Given the description of an element on the screen output the (x, y) to click on. 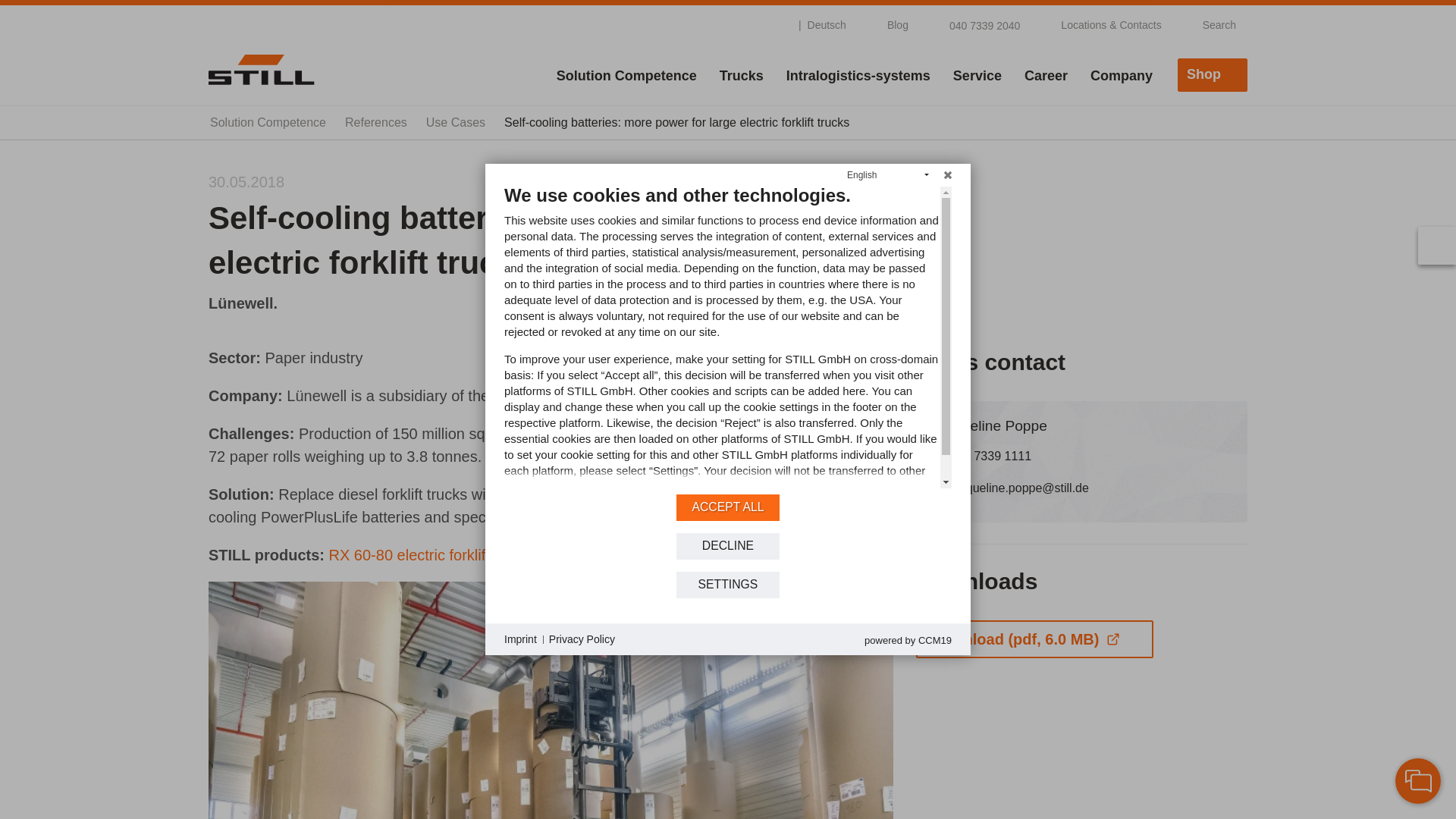
Call hotline (975, 24)
Shop (1212, 74)
STILL Germany (261, 69)
